Given the description of an element on the screen output the (x, y) to click on. 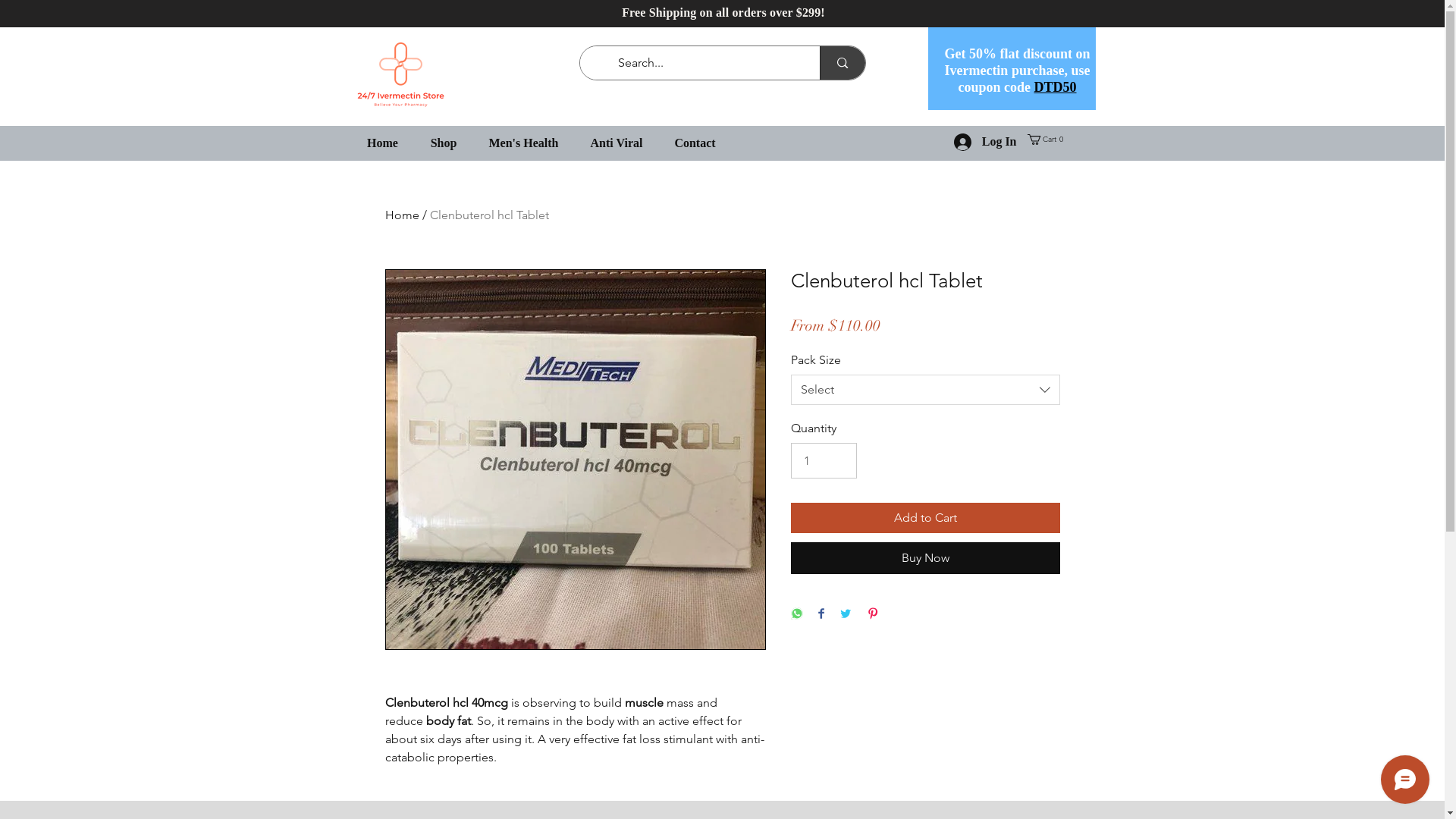
Contact Element type: text (694, 142)
Anti Viral Element type: text (616, 142)
Shop Element type: text (443, 142)
Home Element type: text (382, 142)
Select Element type: text (924, 389)
Clenbuterol hcl Tablet Element type: text (488, 214)
Buy Now Element type: text (924, 558)
its logo Element type: hover (399, 74)
Add to Cart Element type: text (924, 517)
Log In Element type: text (985, 141)
Home Element type: text (402, 214)
Cart
0 Element type: text (1046, 139)
Men's Health Element type: text (523, 142)
